Given the description of an element on the screen output the (x, y) to click on. 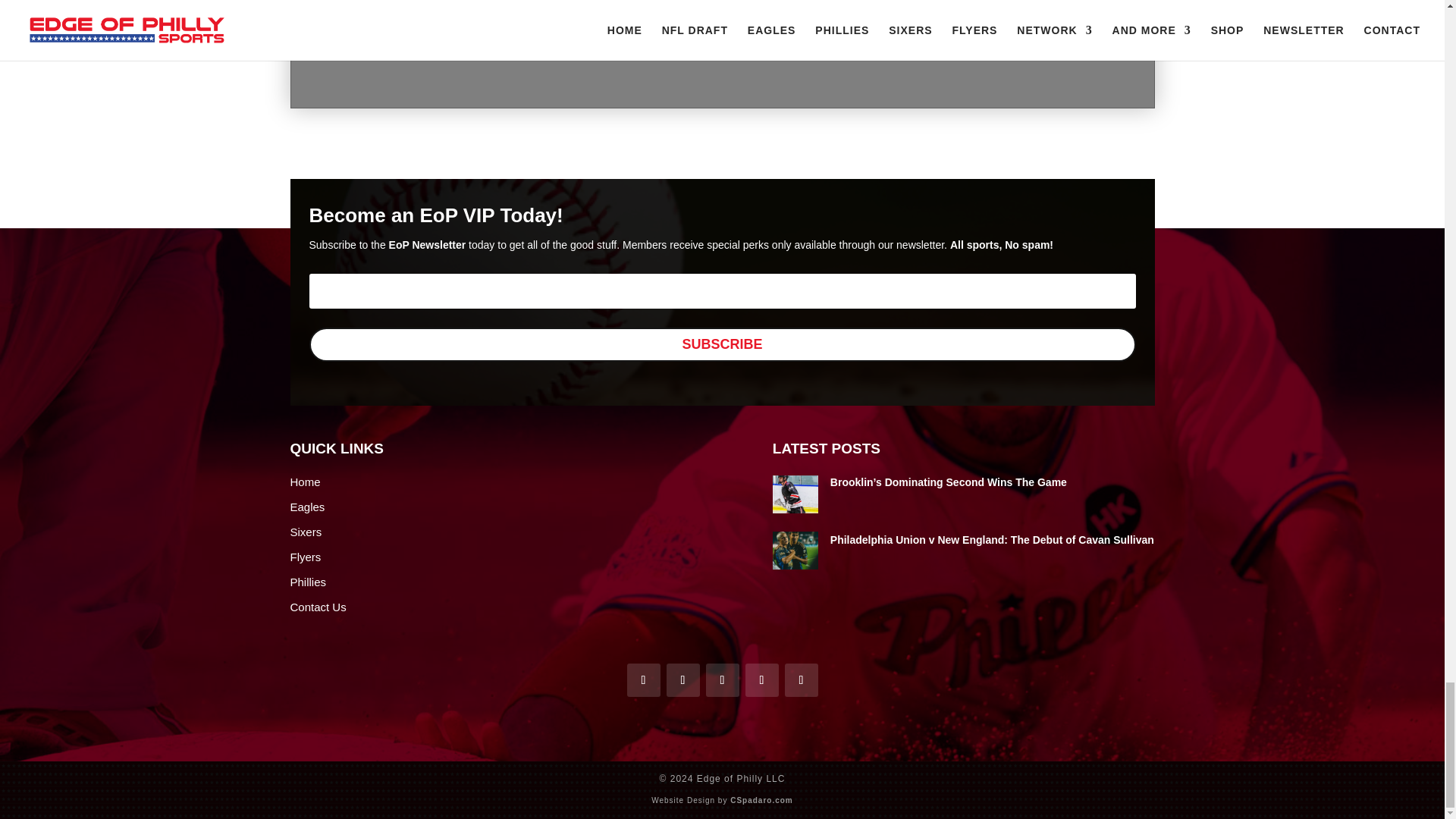
Follow on Instagram (760, 679)
Follow on Facebook (642, 679)
Follow on Youtube (721, 679)
Follow on Twitter (681, 679)
Follow on LinkedIn (800, 679)
Spadaro website (761, 800)
